Given the description of an element on the screen output the (x, y) to click on. 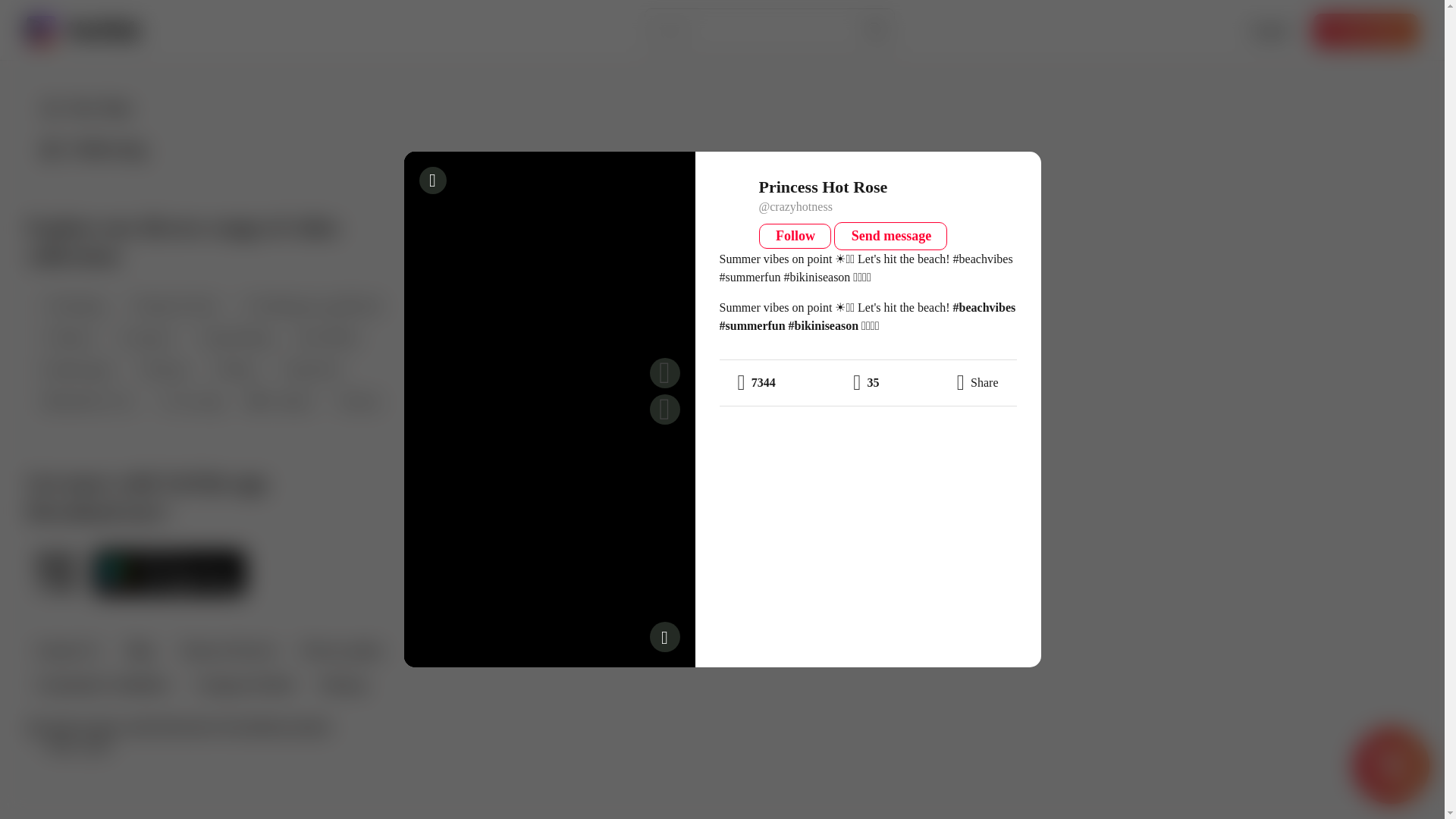
Get the App (1365, 30)
Sitemap (342, 686)
For You (86, 107)
Send message (890, 235)
Community Guidelines (101, 686)
Following (93, 148)
Follow (794, 235)
Company Details (244, 686)
Privacy policy (341, 652)
Blog (139, 652)
Terms of Service (228, 652)
Log in (1269, 30)
Contact Us (66, 652)
